Given the description of an element on the screen output the (x, y) to click on. 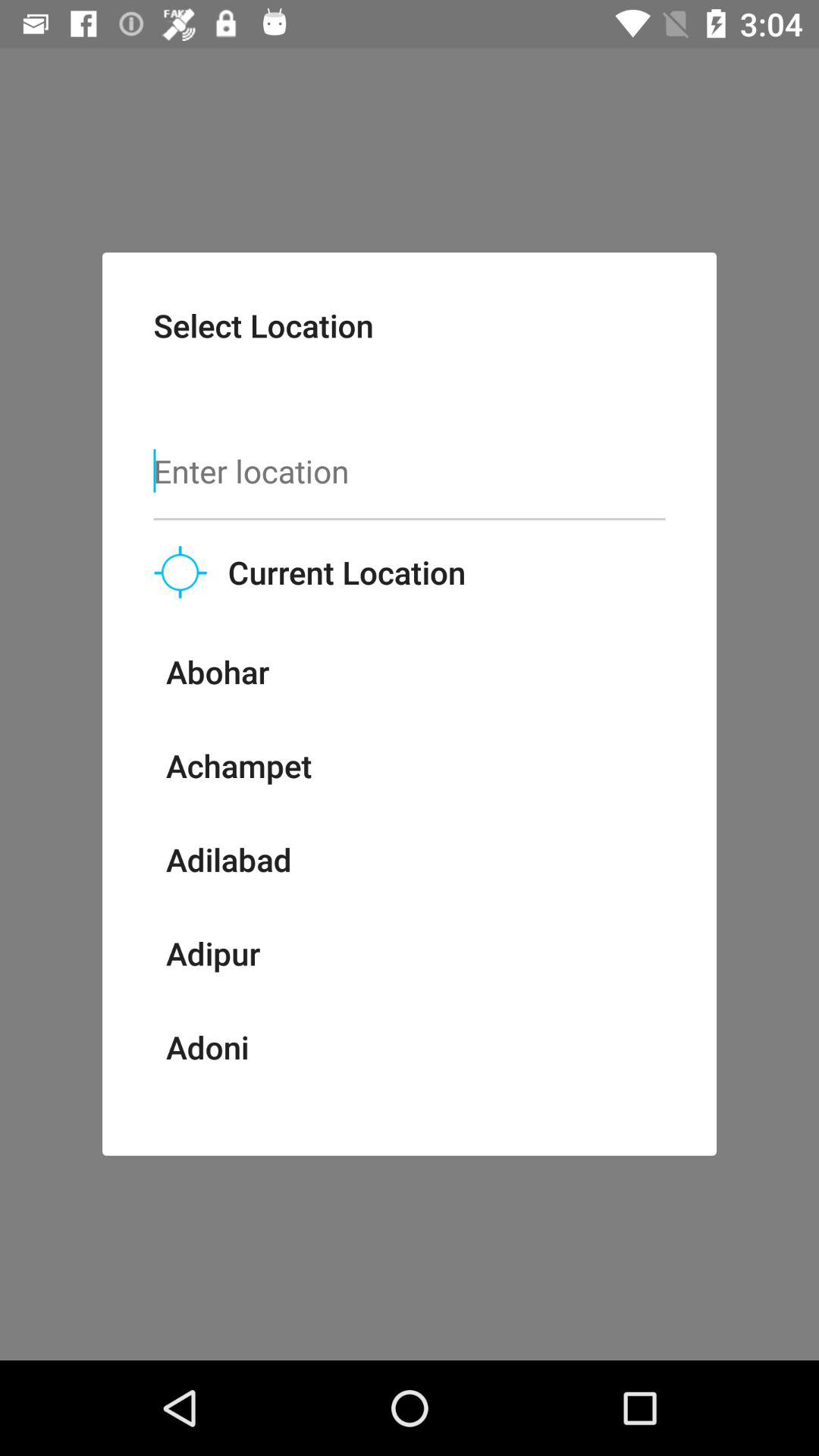
open adipur item (213, 953)
